Given the description of an element on the screen output the (x, y) to click on. 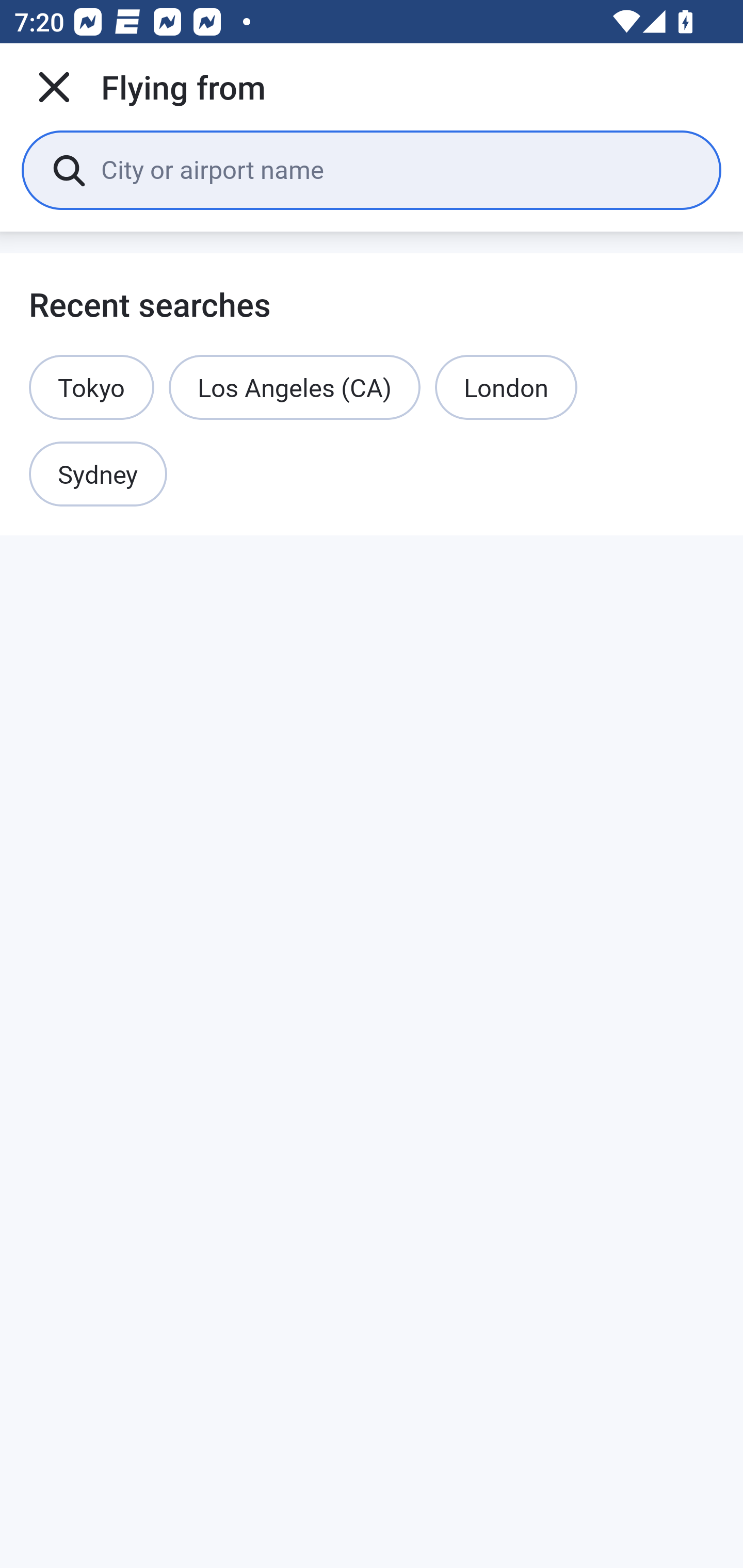
City or airport name (396, 169)
Tokyo (91, 387)
Los Angeles (CA) (294, 387)
London (505, 387)
Sydney (97, 474)
